Given the description of an element on the screen output the (x, y) to click on. 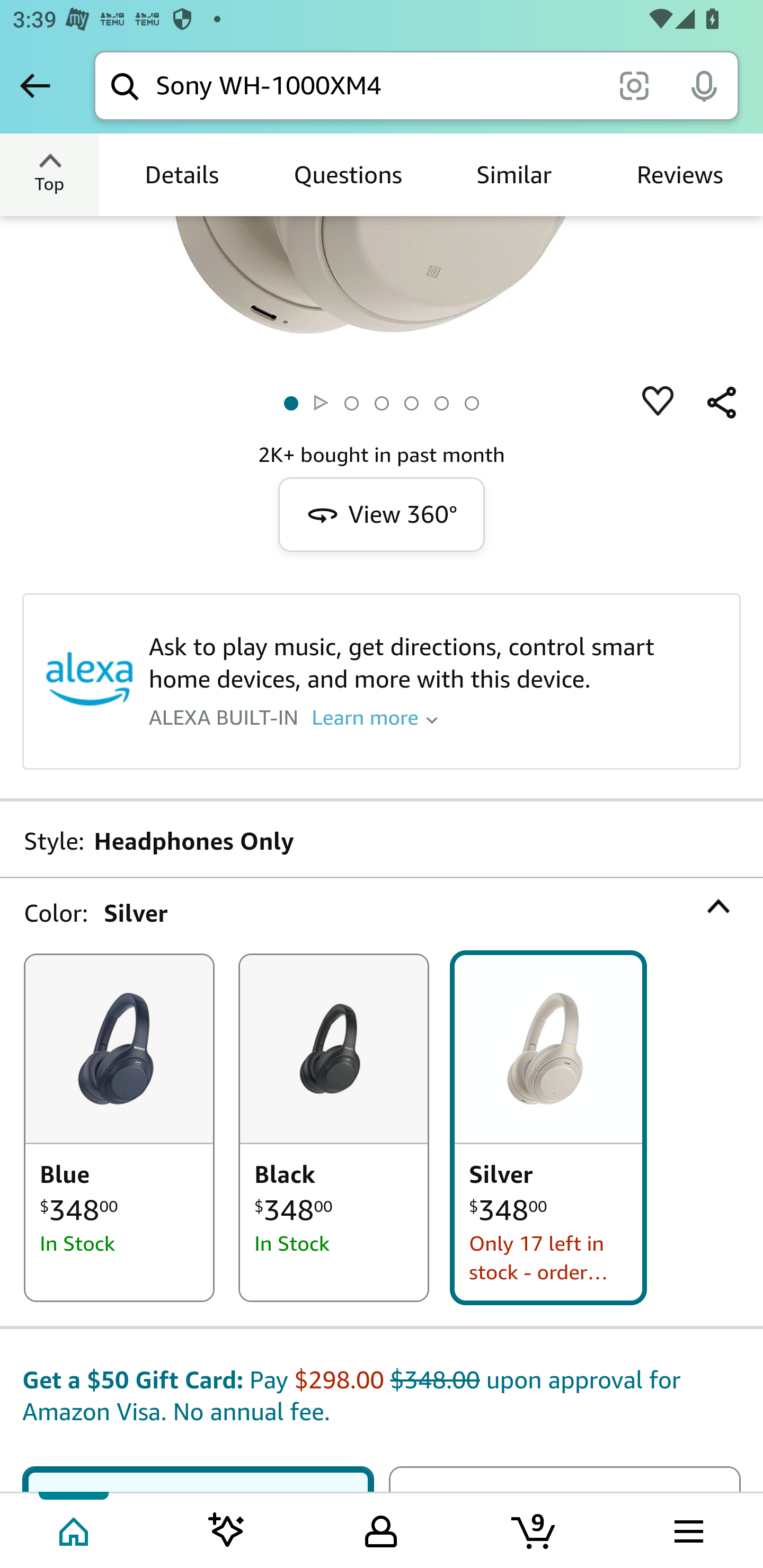
Back (35, 85)
scan it (633, 85)
Heart to save an item to your default list (657, 402)
View 360° (381, 514)
Learn more (374, 717)
Blue $348.00 In Stock (118, 1127)
Black $348.00 In Stock (333, 1127)
Silver $348.00 Only 17 left in stock - order soon. (548, 1127)
Home Tab 1 of 5 (75, 1529)
Inspire feed Tab 2 of 5 (227, 1529)
Your Amazon.com Tab 3 of 5 (380, 1529)
Cart 9 items Tab 4 of 5 9 (534, 1529)
Browse menu Tab 5 of 5 (687, 1529)
